Given the description of an element on the screen output the (x, y) to click on. 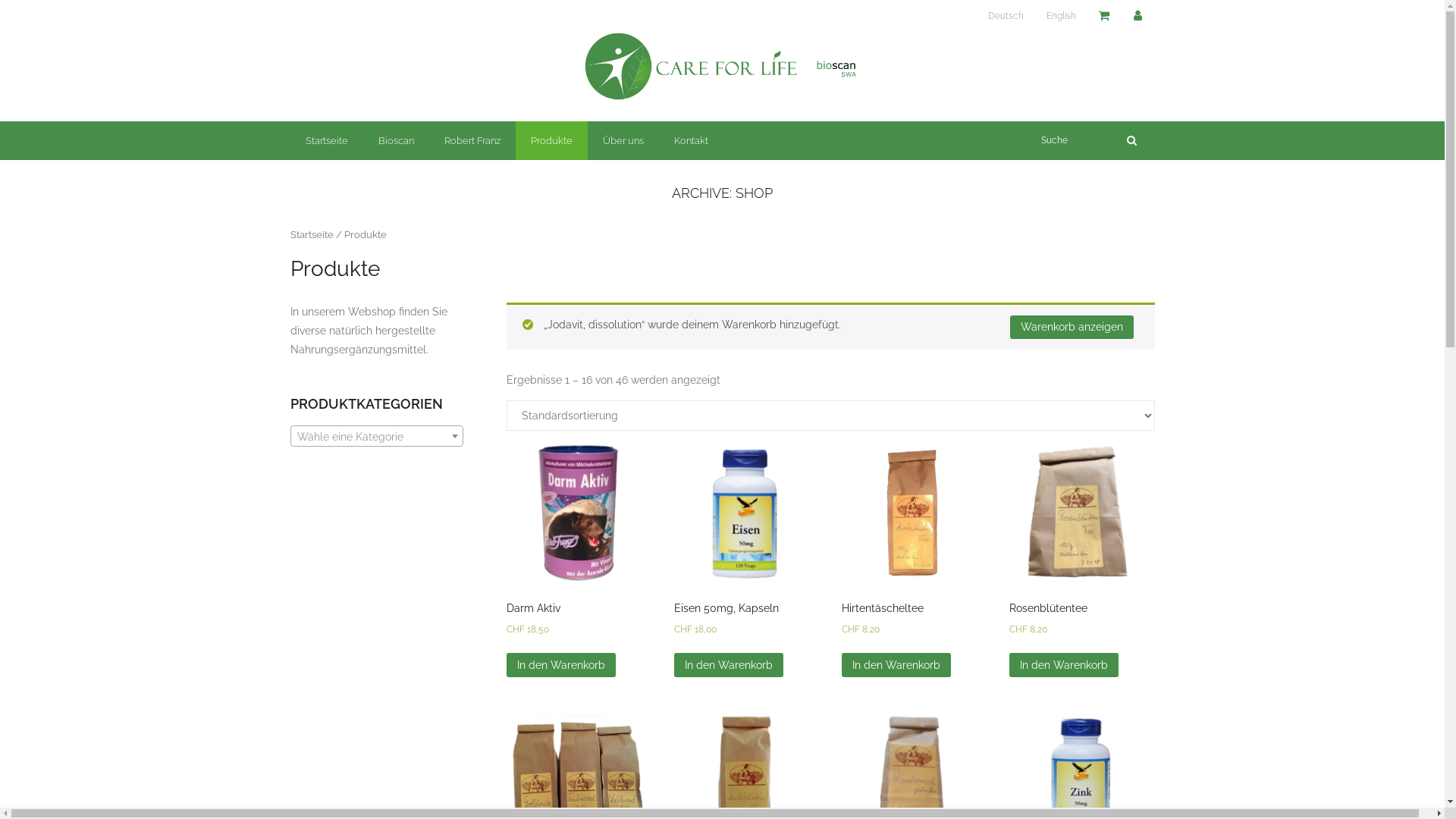
Deutsch Element type: text (1005, 16)
Robert Franz Element type: text (472, 140)
Produkte Element type: text (551, 140)
Startseite Element type: text (310, 234)
In den Warenkorb Element type: text (560, 664)
Kontakt Element type: text (690, 140)
Bioscan Element type: text (395, 140)
. Element type: text (1138, 15)
In den Warenkorb Element type: text (727, 664)
Darm Aktiv
CHF 18,50 Element type: text (577, 556)
Warenkorb anzeigen Element type: text (1071, 326)
English Element type: text (1060, 16)
Eisen 50mg, Kapseln
CHF 18,00 Element type: text (744, 556)
Suche Element type: text (32, 15)
In den Warenkorb Element type: text (1062, 664)
In den Warenkorb Element type: text (895, 664)
Startseite Element type: text (325, 140)
. Element type: text (1104, 15)
